Given the description of an element on the screen output the (x, y) to click on. 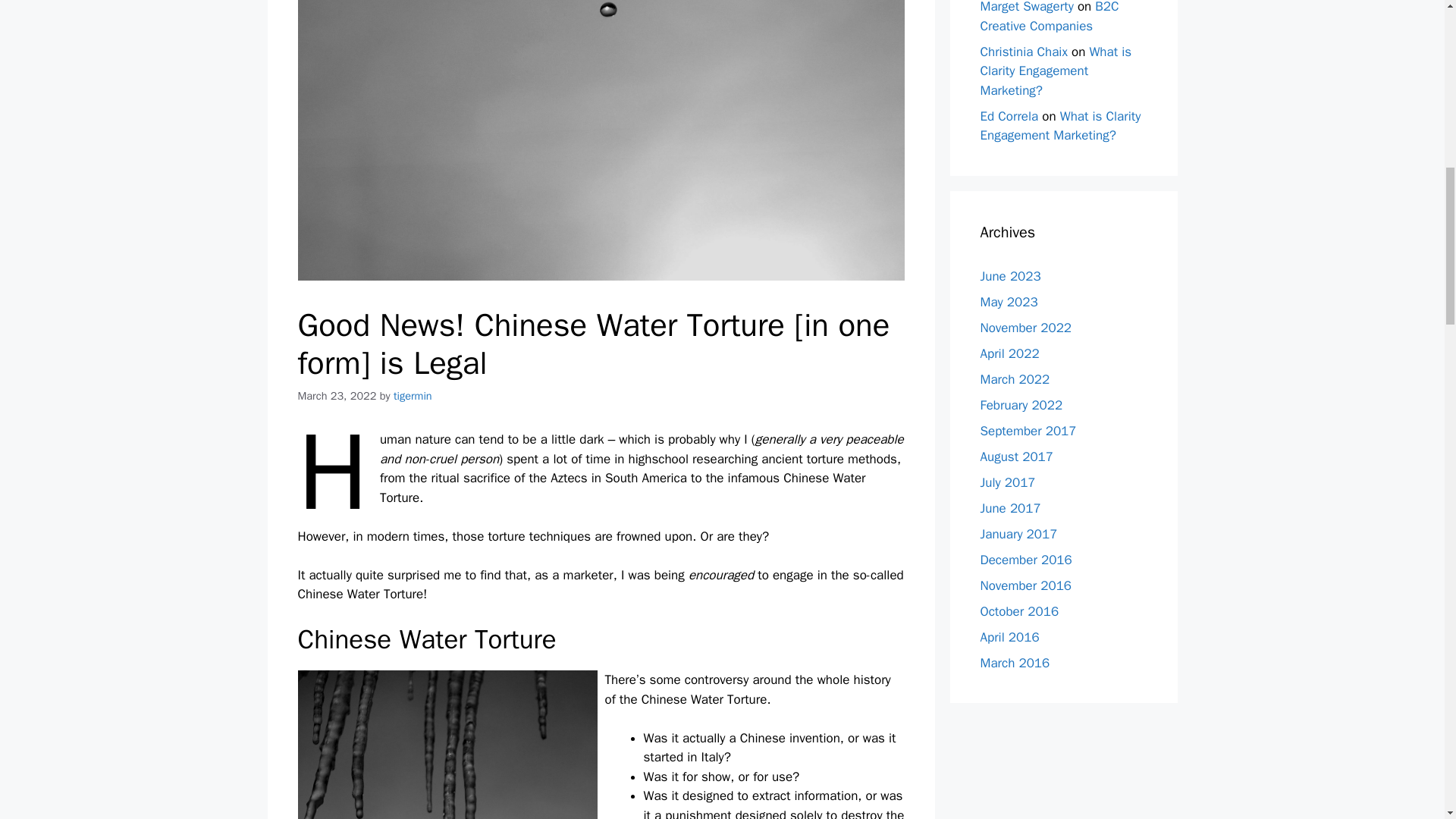
Scroll back to top (1406, 720)
tigermin (412, 395)
View all posts by tigermin (412, 395)
